Given the description of an element on the screen output the (x, y) to click on. 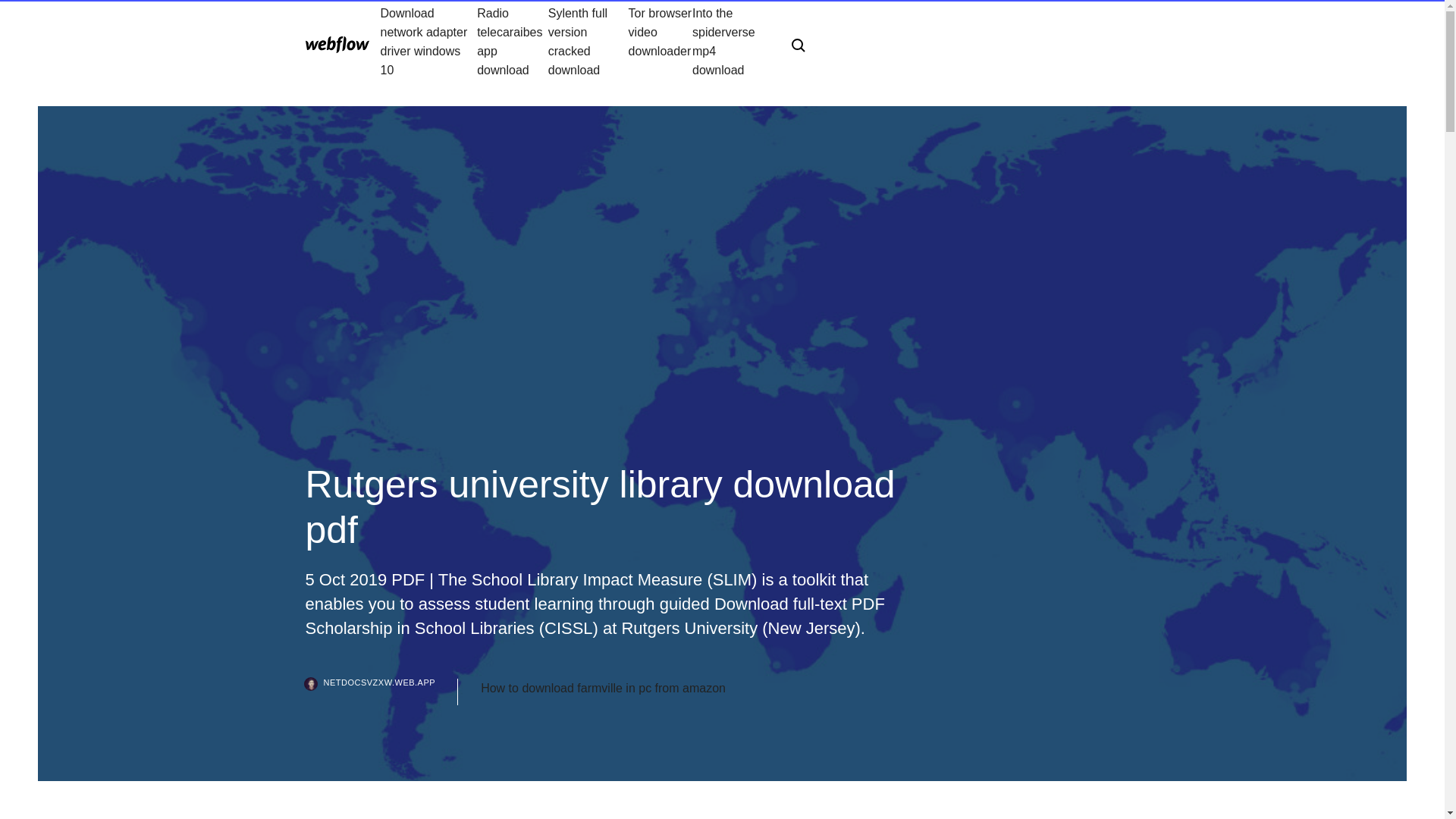
Into the spiderverse mp4 download (730, 41)
Radio telecaraibes app download (512, 41)
How to download farmville in pc from amazon (602, 687)
Sylenth full version cracked download (588, 41)
Download network adapter driver windows 10 (428, 41)
NETDOCSVZXW.WEB.APP (381, 691)
Tor browser video downloader (660, 41)
